Given the description of an element on the screen output the (x, y) to click on. 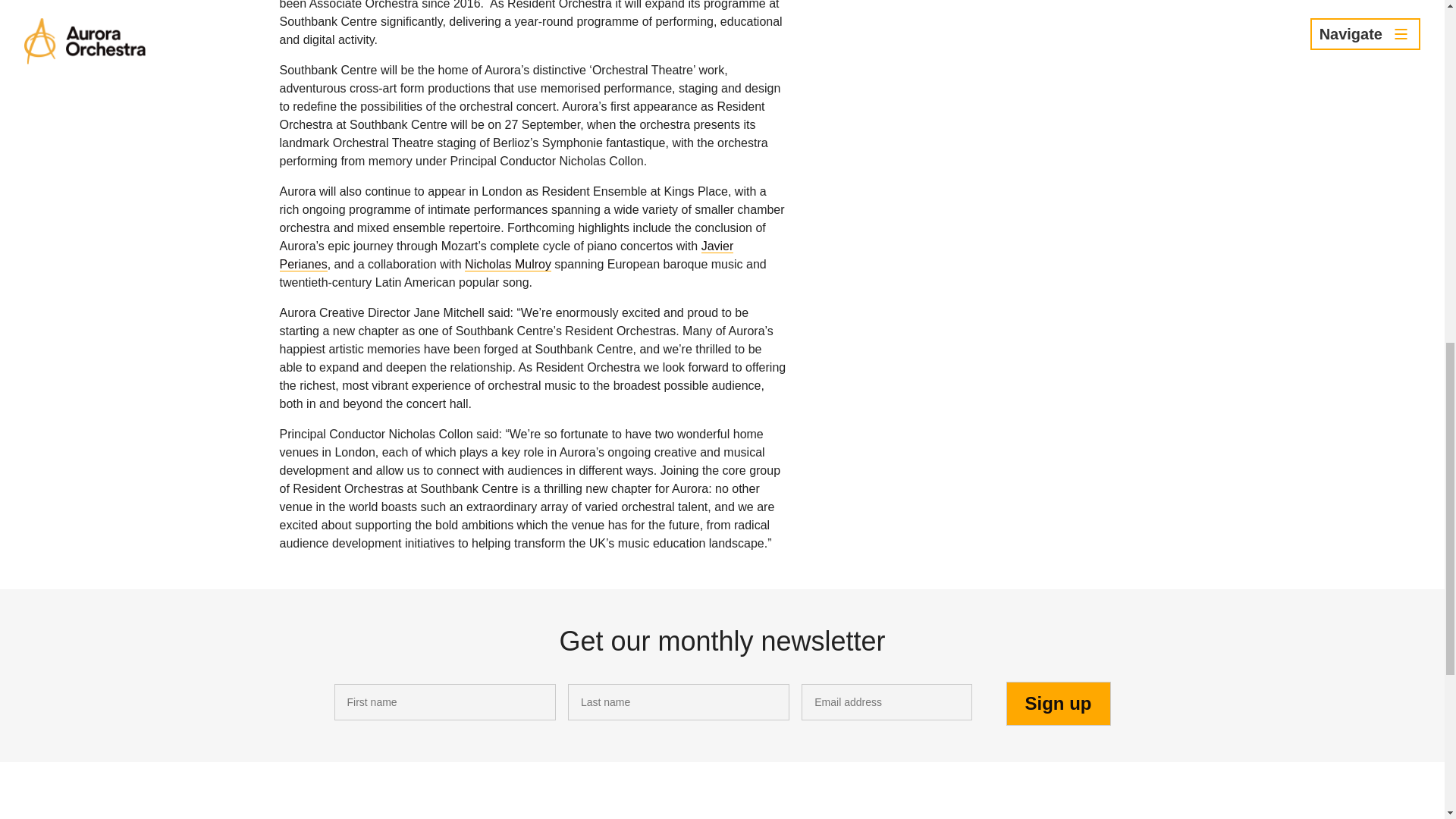
Sign up (1058, 703)
Nicholas Mulroy (507, 264)
Javier Perianes (506, 255)
Sign up (1058, 703)
